Given the description of an element on the screen output the (x, y) to click on. 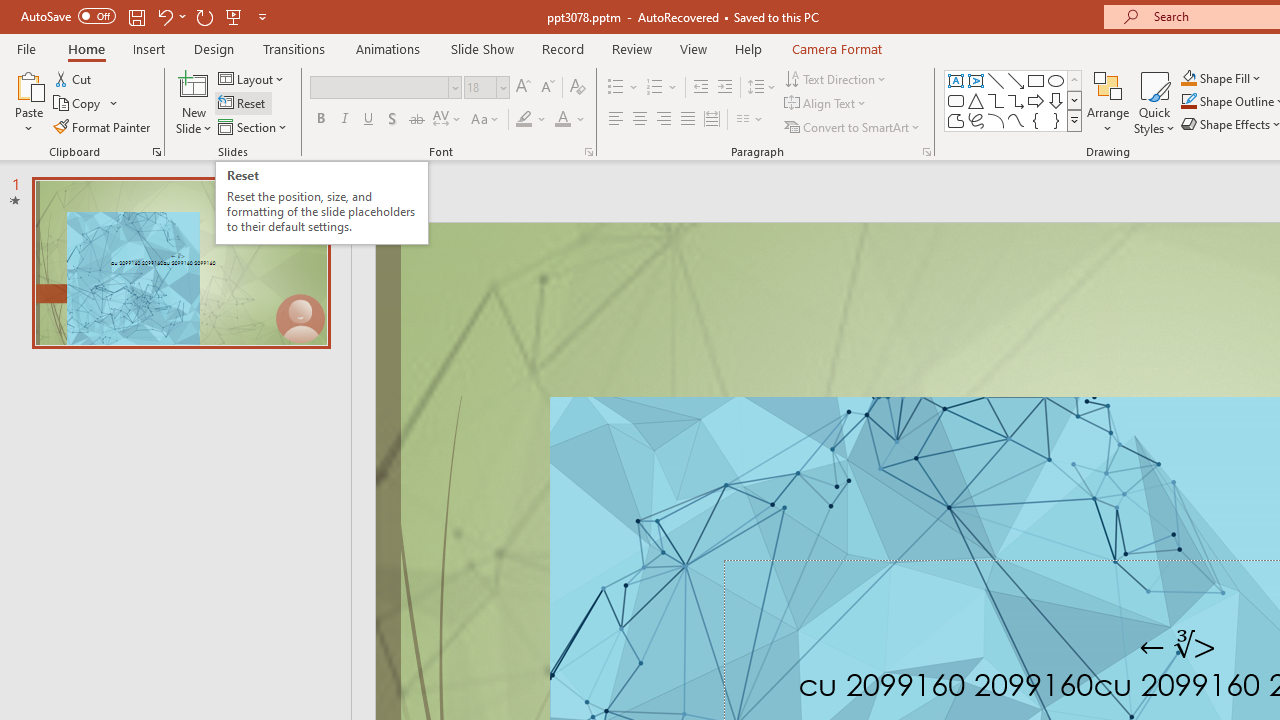
Align Left (616, 119)
Arrow: Down (1055, 100)
Shadow (392, 119)
TextBox 7 (1178, 646)
Underline (369, 119)
Decrease Font Size (547, 87)
AutomationID: ShapesInsertGallery (1014, 100)
Arrange (1108, 102)
Decrease Indent (700, 87)
Font Size (486, 87)
